Given the description of an element on the screen output the (x, y) to click on. 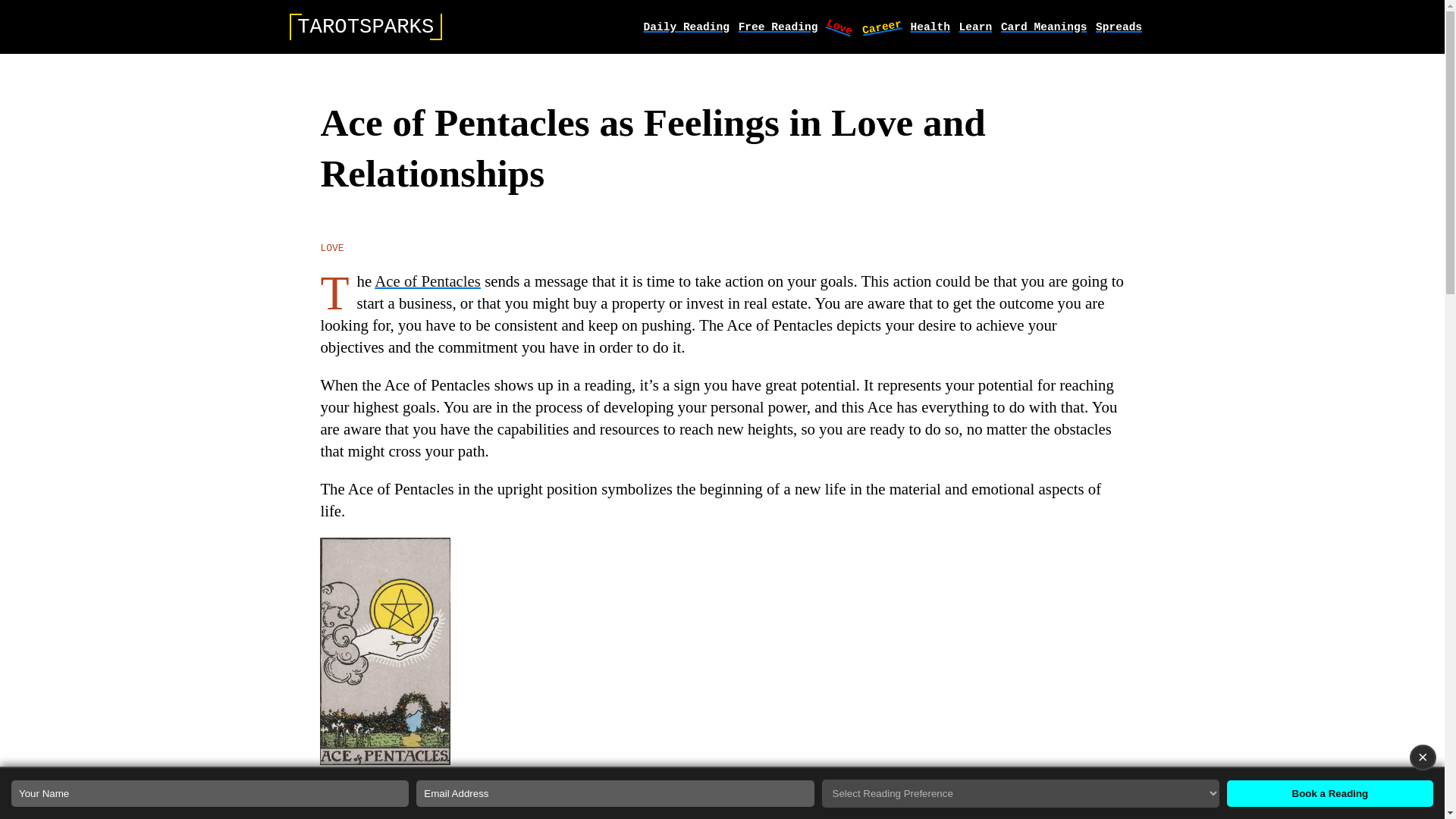
Career (881, 23)
Free Reading (778, 27)
Spreads (1118, 27)
Love (838, 22)
Card Meanings (1043, 27)
TAROTSPARKS (366, 26)
Daily Reading (686, 27)
Learn (975, 27)
Health (930, 27)
Book a Reading (1329, 793)
